Given the description of an element on the screen output the (x, y) to click on. 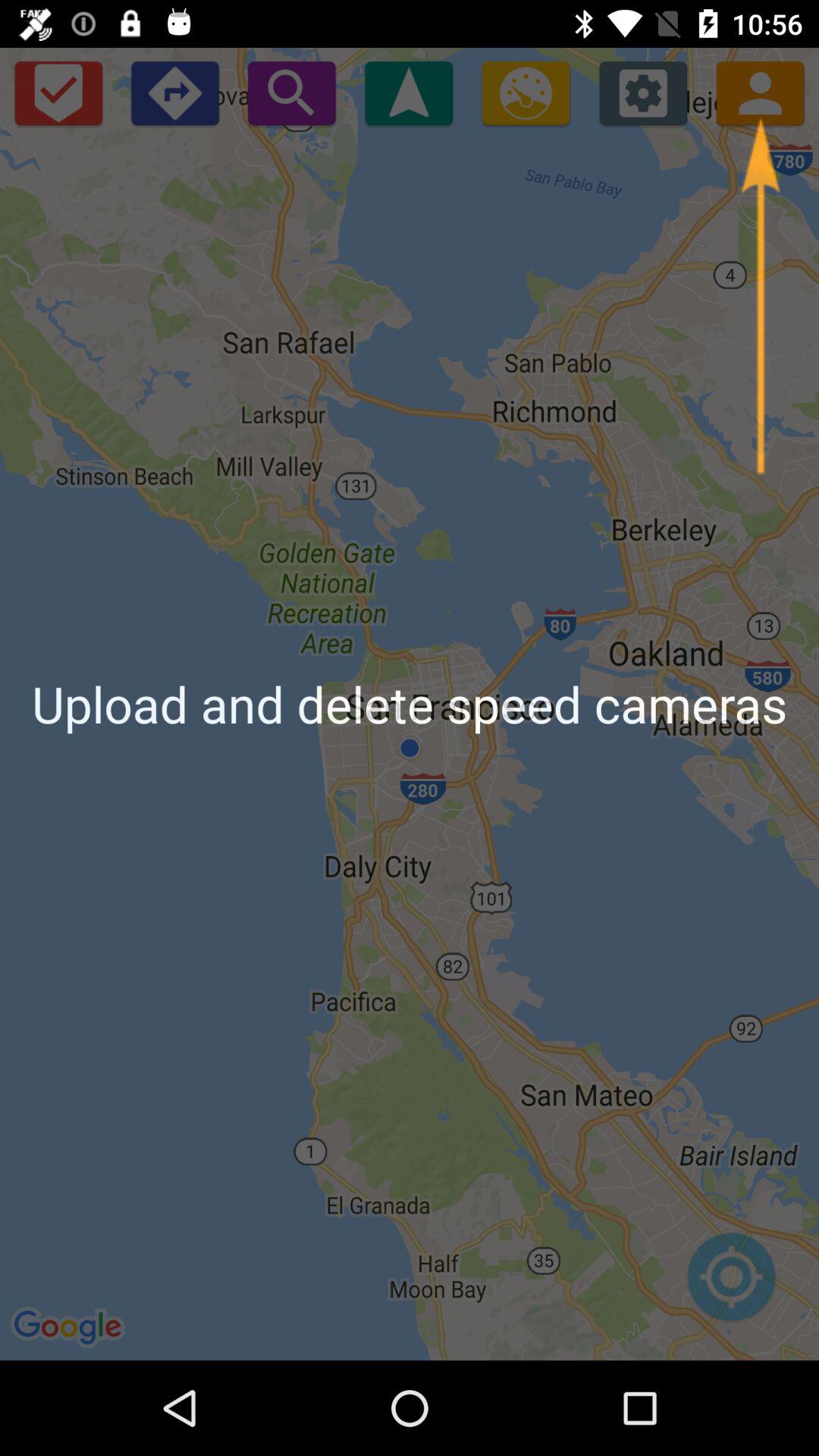
go to arrow (760, 296)
click on google at bottom left (69, 1328)
select the settings icon (642, 92)
click on blue colour location icon at bottom (731, 1284)
select the option left side of settings icon (525, 92)
click on the icon which is next to the settings icon (760, 92)
click on the icon which is before the navigation icon (291, 92)
